Given the description of an element on the screen output the (x, y) to click on. 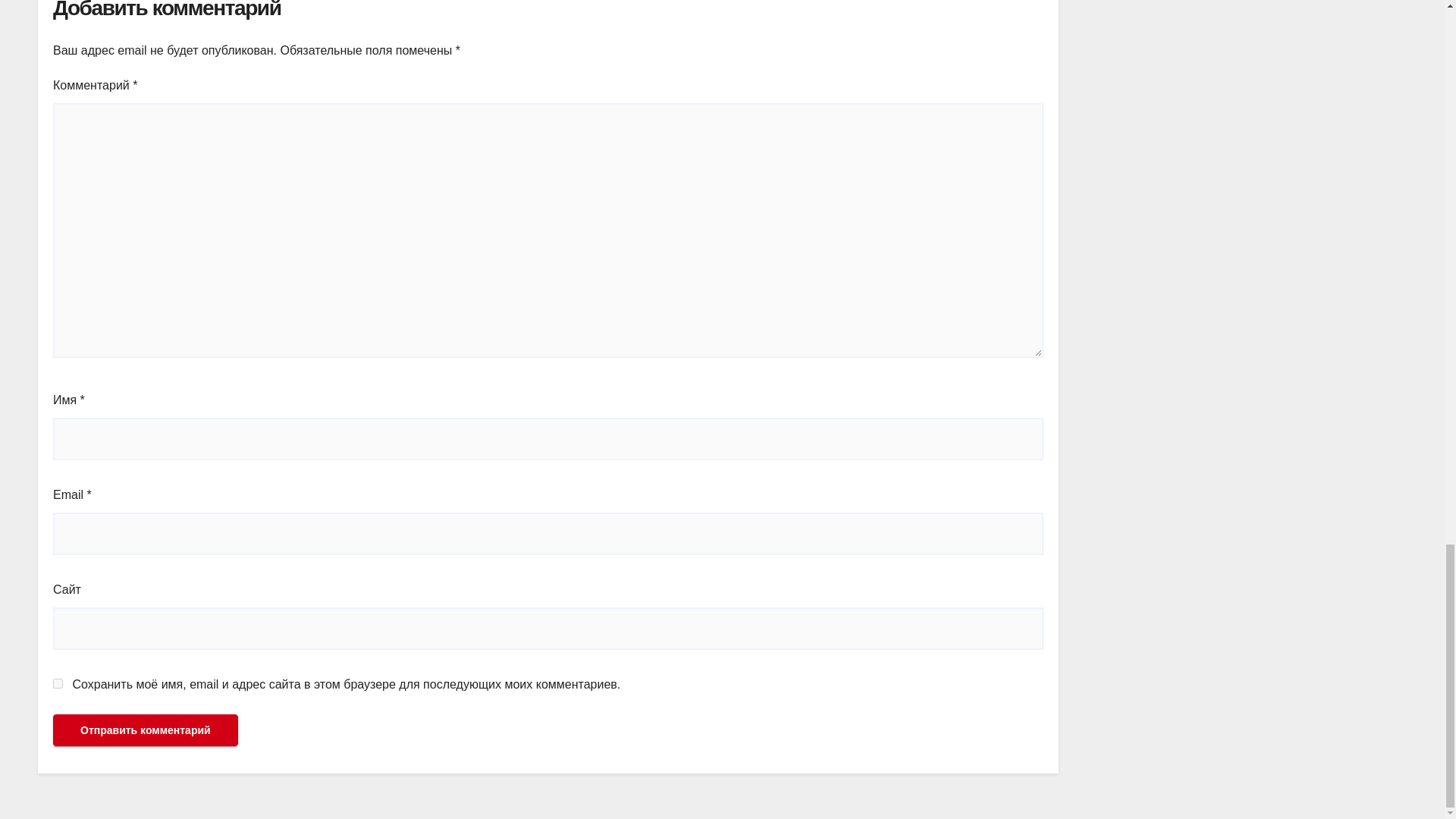
yes (57, 683)
